Given the description of an element on the screen output the (x, y) to click on. 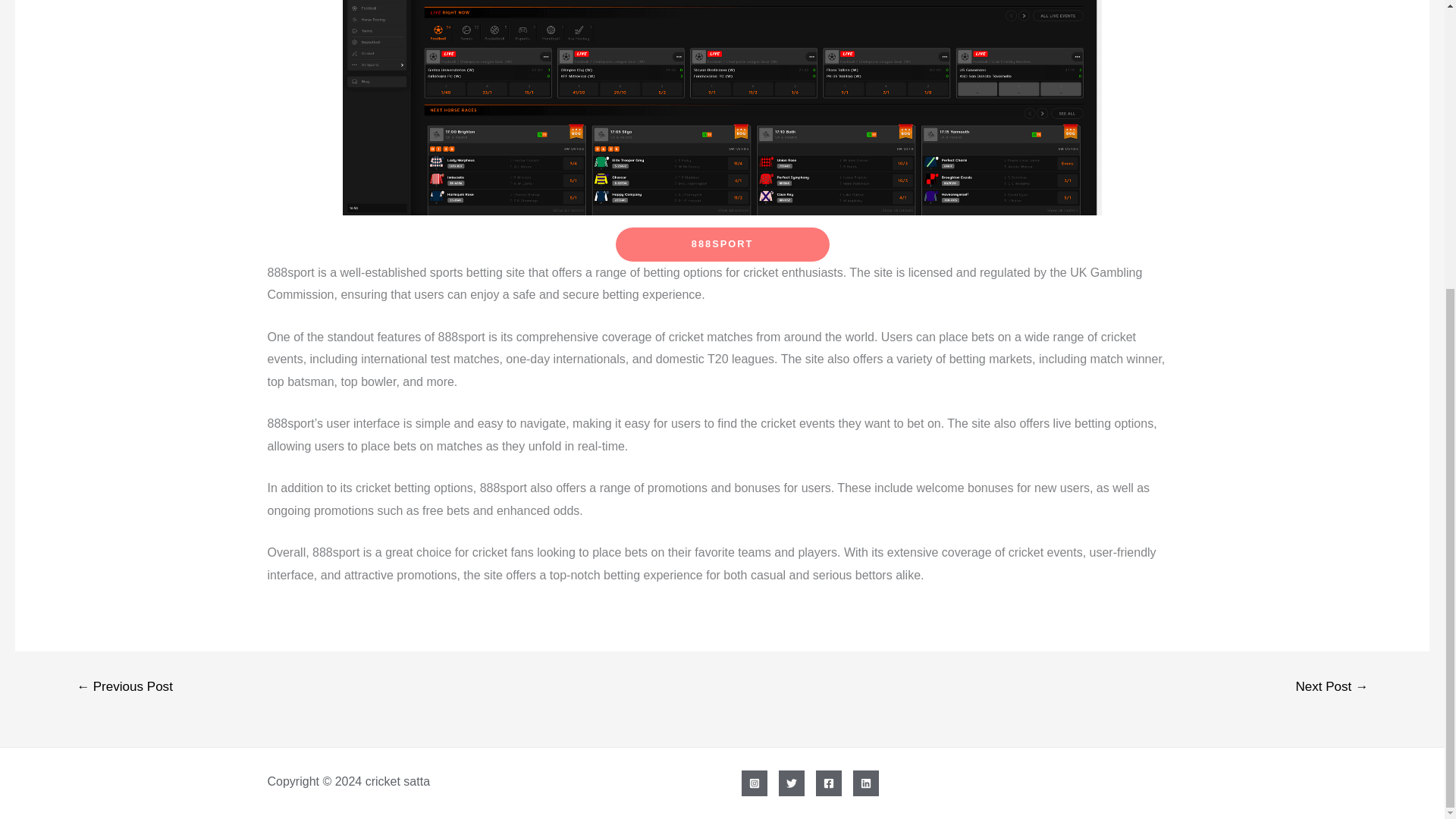
888SPORT (722, 244)
